Given the description of an element on the screen output the (x, y) to click on. 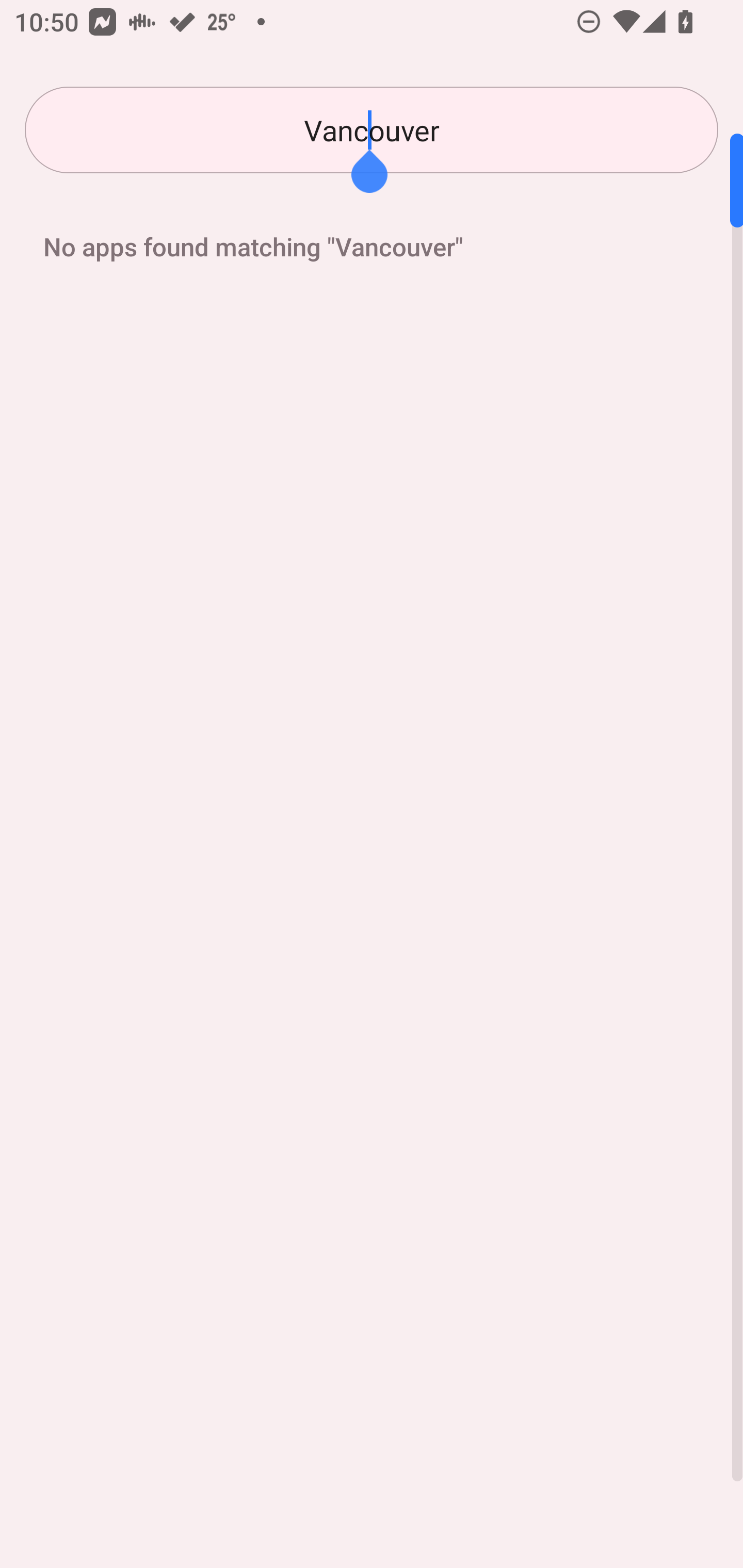
Vancouver (371, 130)
